Given the description of an element on the screen output the (x, y) to click on. 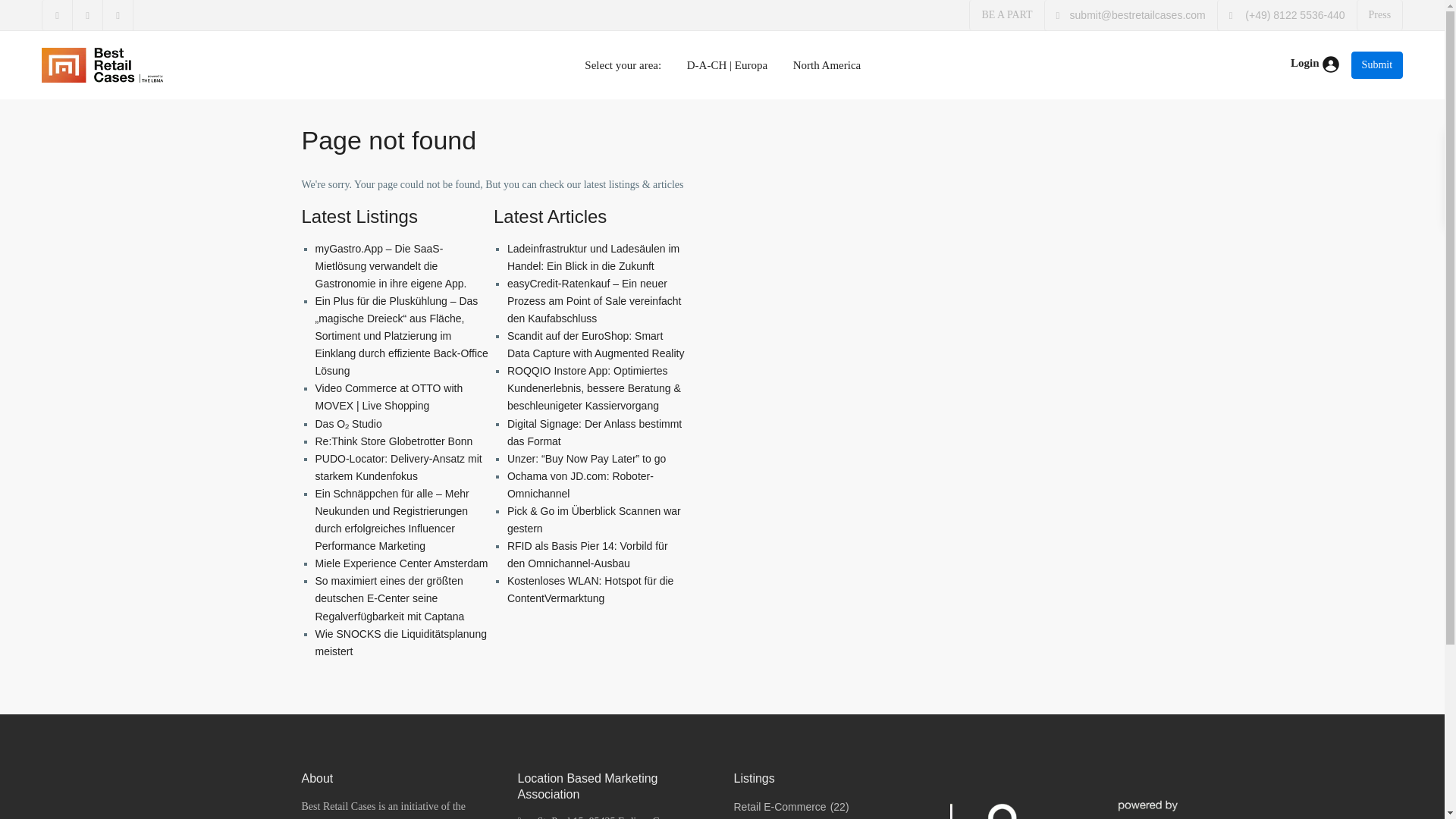
BE A PART (1006, 14)
Miele Experience Center Amsterdam (401, 563)
North America (826, 65)
Submit (1377, 64)
Re:Think Store Globetrotter Bonn (394, 440)
Select your area: (622, 65)
PUDO-Locator: Delivery-Ansatz mit starkem Kundenfokus (398, 467)
